Given the description of an element on the screen output the (x, y) to click on. 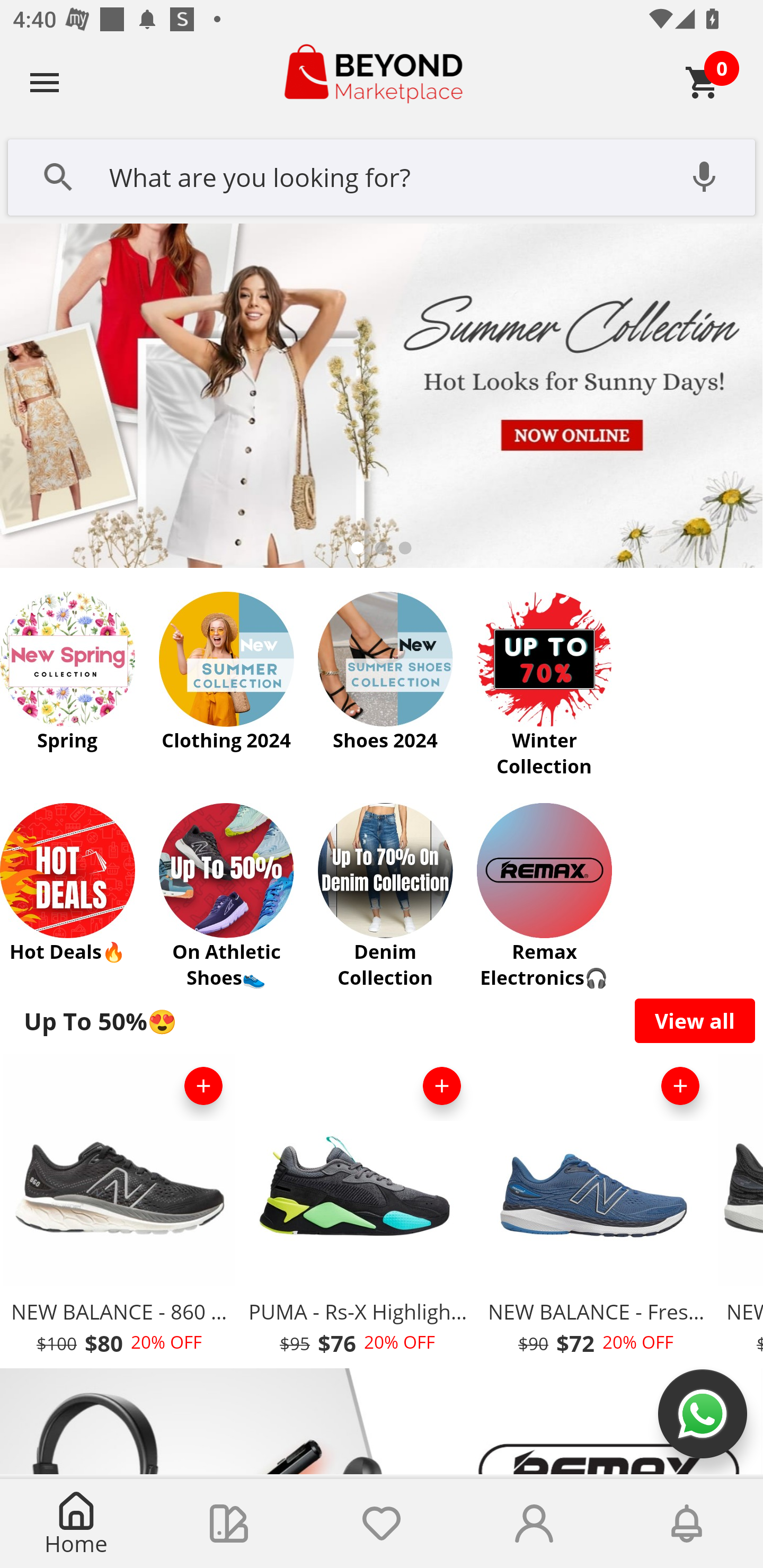
Navigate up (44, 82)
What are you looking for? (381, 175)
View all (694, 1020)
NEW BALANCE - 860 Running Shoes $100 $80 20% OFF (119, 1209)
Collections (228, 1523)
Wishlist (381, 1523)
Account (533, 1523)
Notifications (686, 1523)
